Given the description of an element on the screen output the (x, y) to click on. 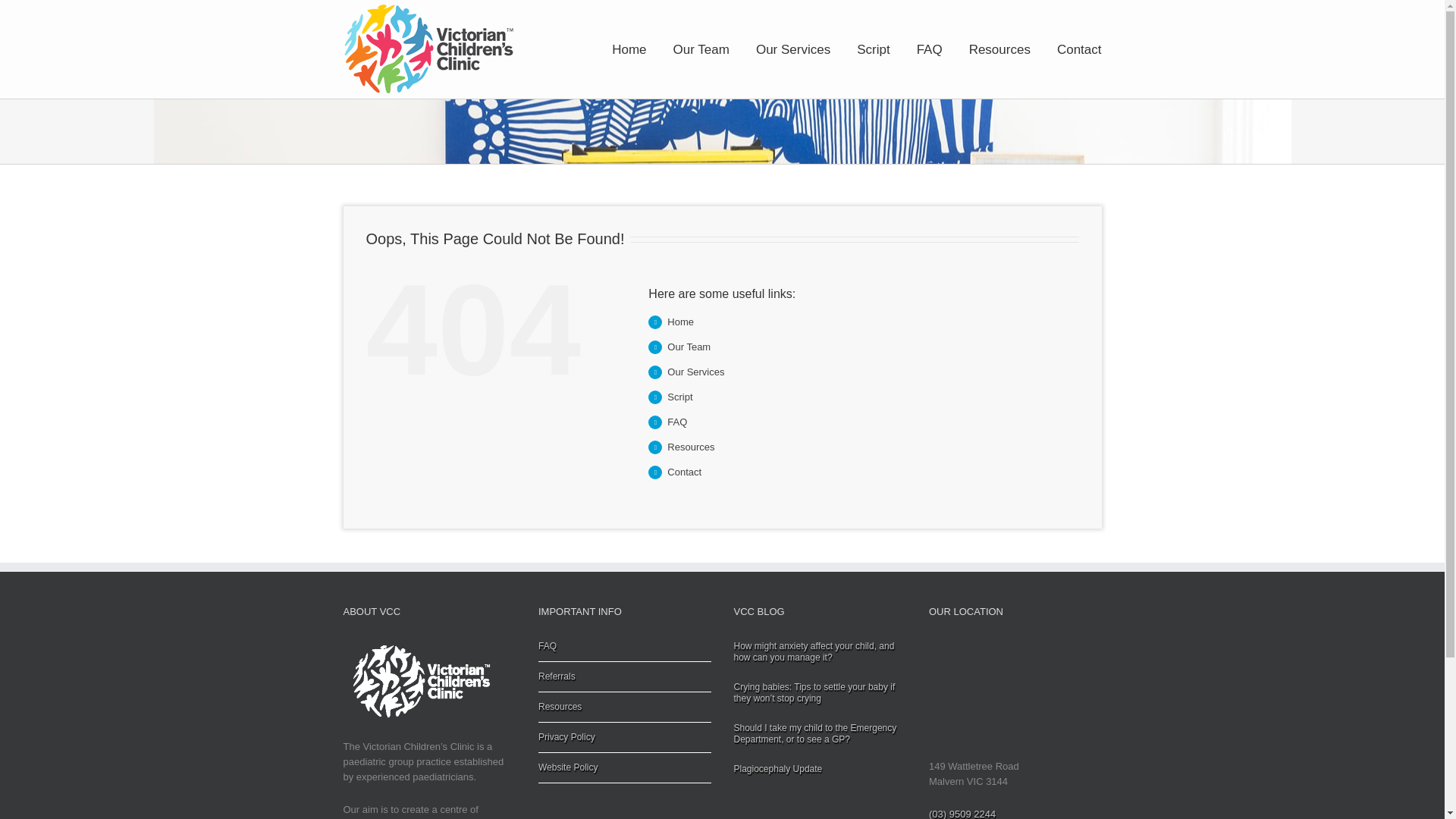
Our Team (700, 48)
Resources (999, 48)
Home (628, 48)
Home (680, 321)
Script (873, 48)
Contact (1079, 48)
Our Services (792, 48)
FAQ (929, 48)
